Given the description of an element on the screen output the (x, y) to click on. 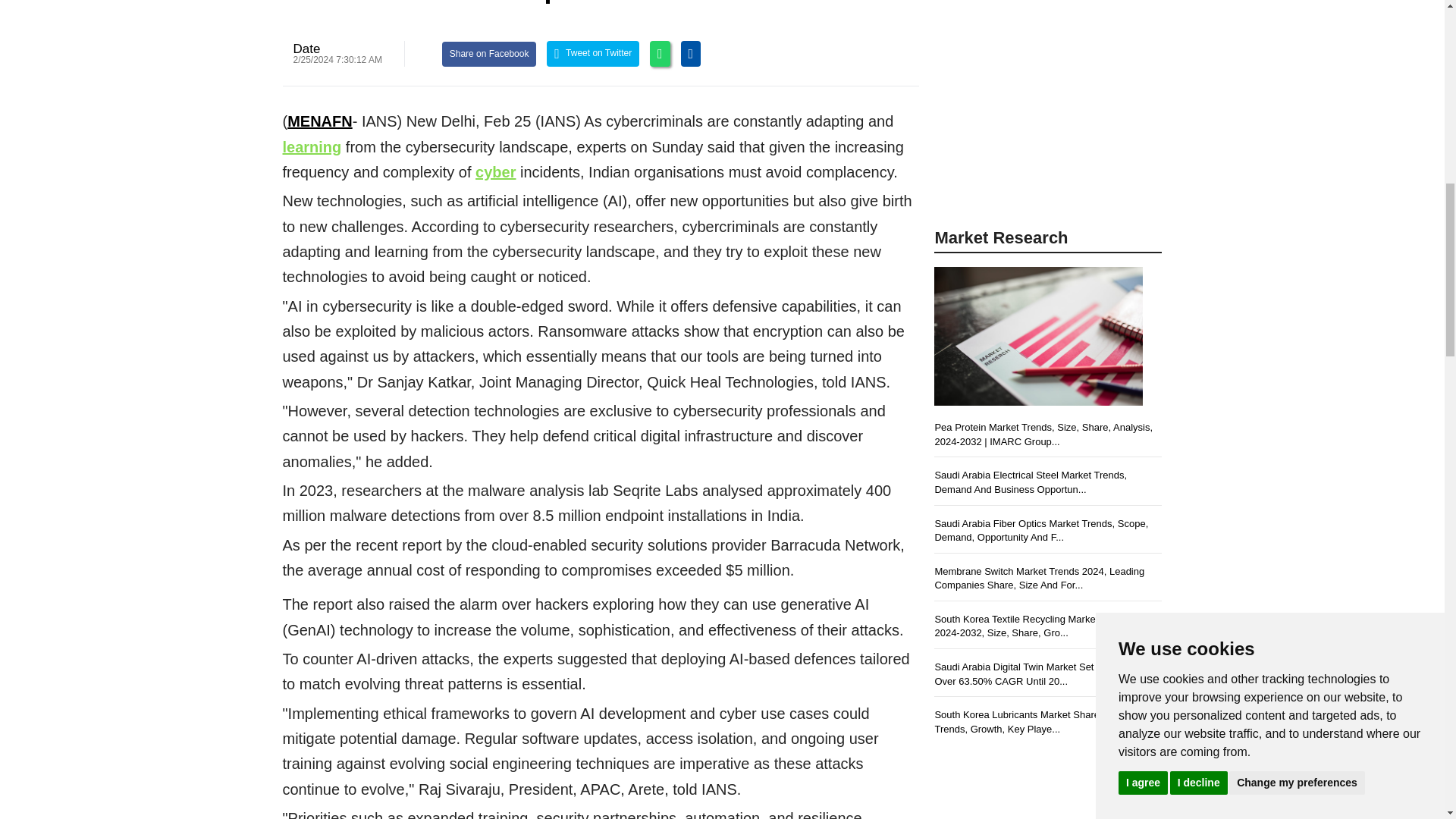
Posts by NewEdge (306, 48)
Advertisement (1047, 111)
